Given the description of an element on the screen output the (x, y) to click on. 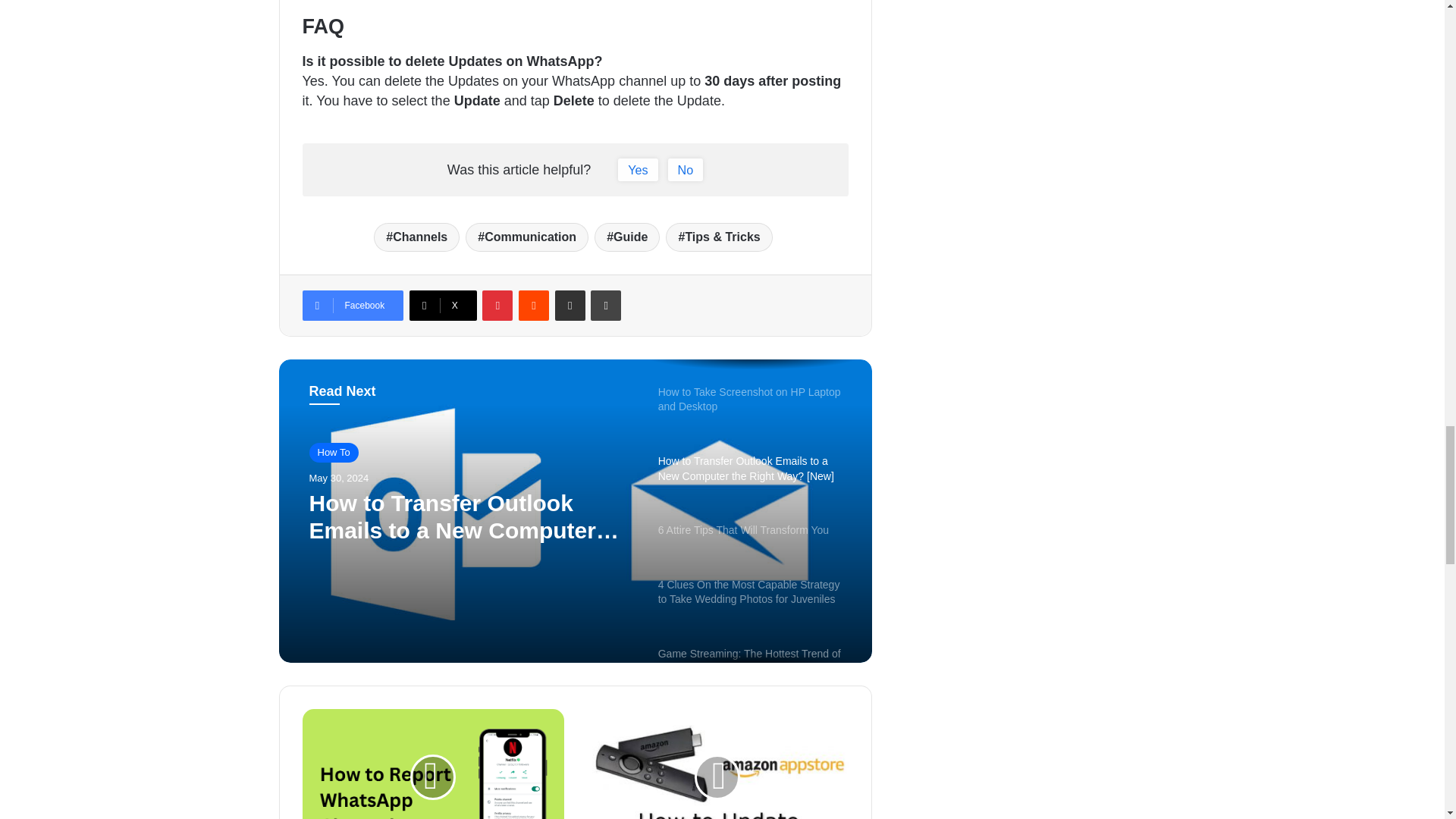
Pinterest (496, 305)
Share via Email (569, 305)
Reddit (533, 305)
Facebook (352, 305)
Channels (417, 236)
Print (606, 305)
Communication (526, 236)
Guide (626, 236)
X (443, 305)
